Given the description of an element on the screen output the (x, y) to click on. 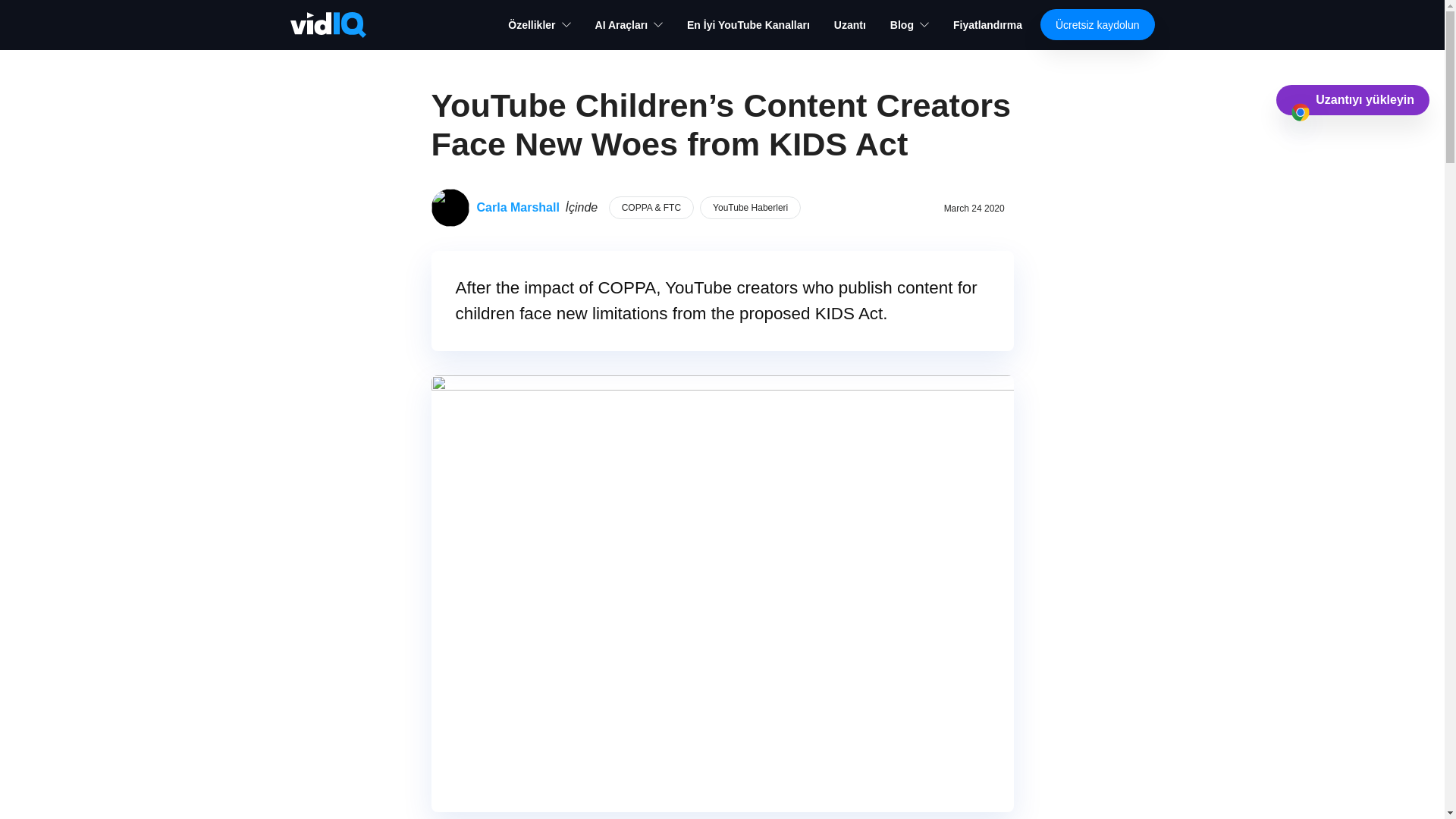
Blog (908, 24)
